Given the description of an element on the screen output the (x, y) to click on. 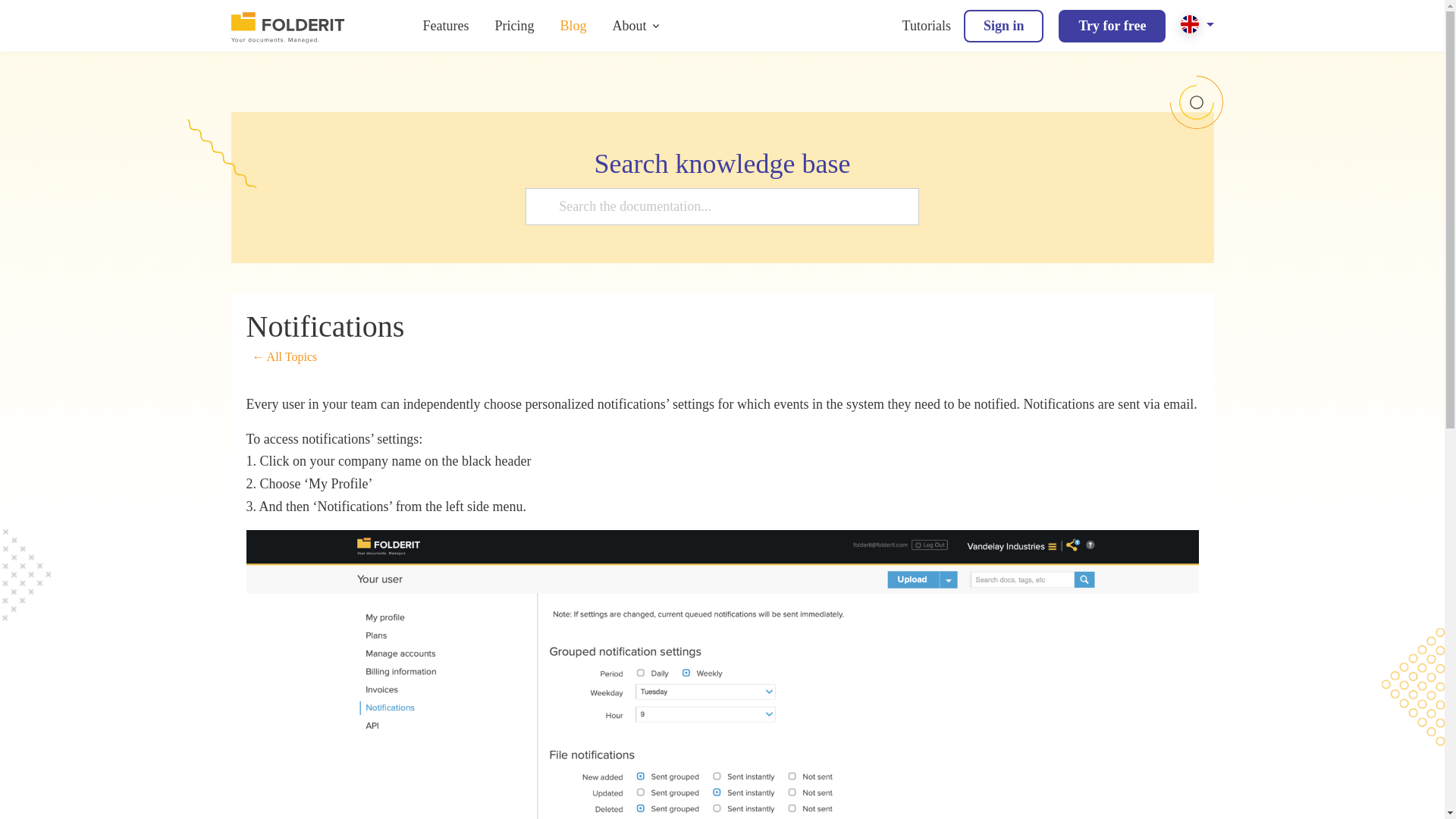
About (629, 25)
Tutorials (926, 25)
Features (445, 25)
Sign in (1003, 26)
Pricing (514, 25)
Try for free (1112, 26)
Blog (572, 25)
